Given the description of an element on the screen output the (x, y) to click on. 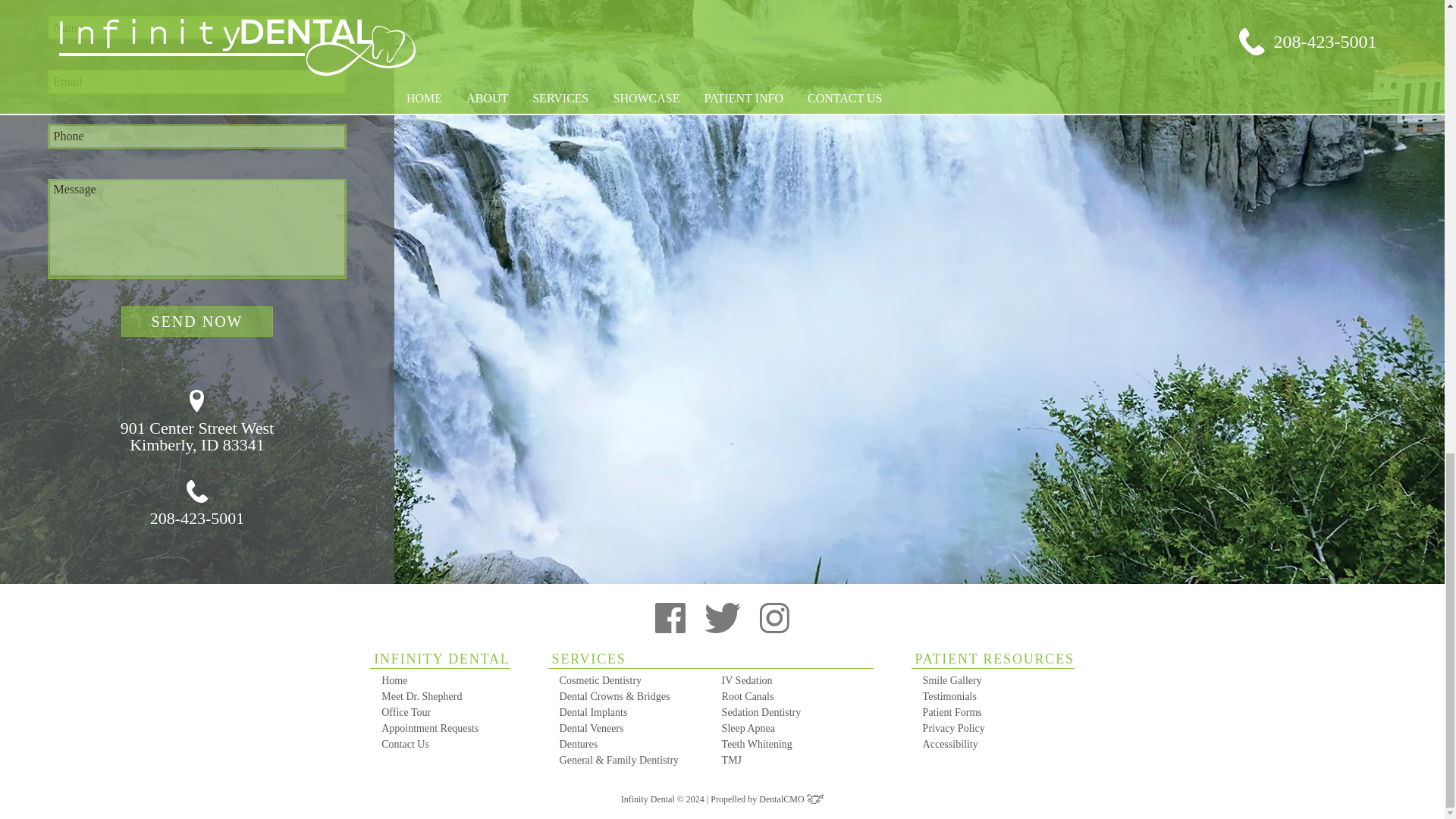
Send Now (196, 321)
Home (445, 680)
Office Tour (445, 712)
208-423-5001 (196, 503)
INFINITY DENTAL (197, 421)
Appointment Requests (439, 660)
Send Now (445, 728)
Meet Dr. Shepherd (196, 321)
